Given the description of an element on the screen output the (x, y) to click on. 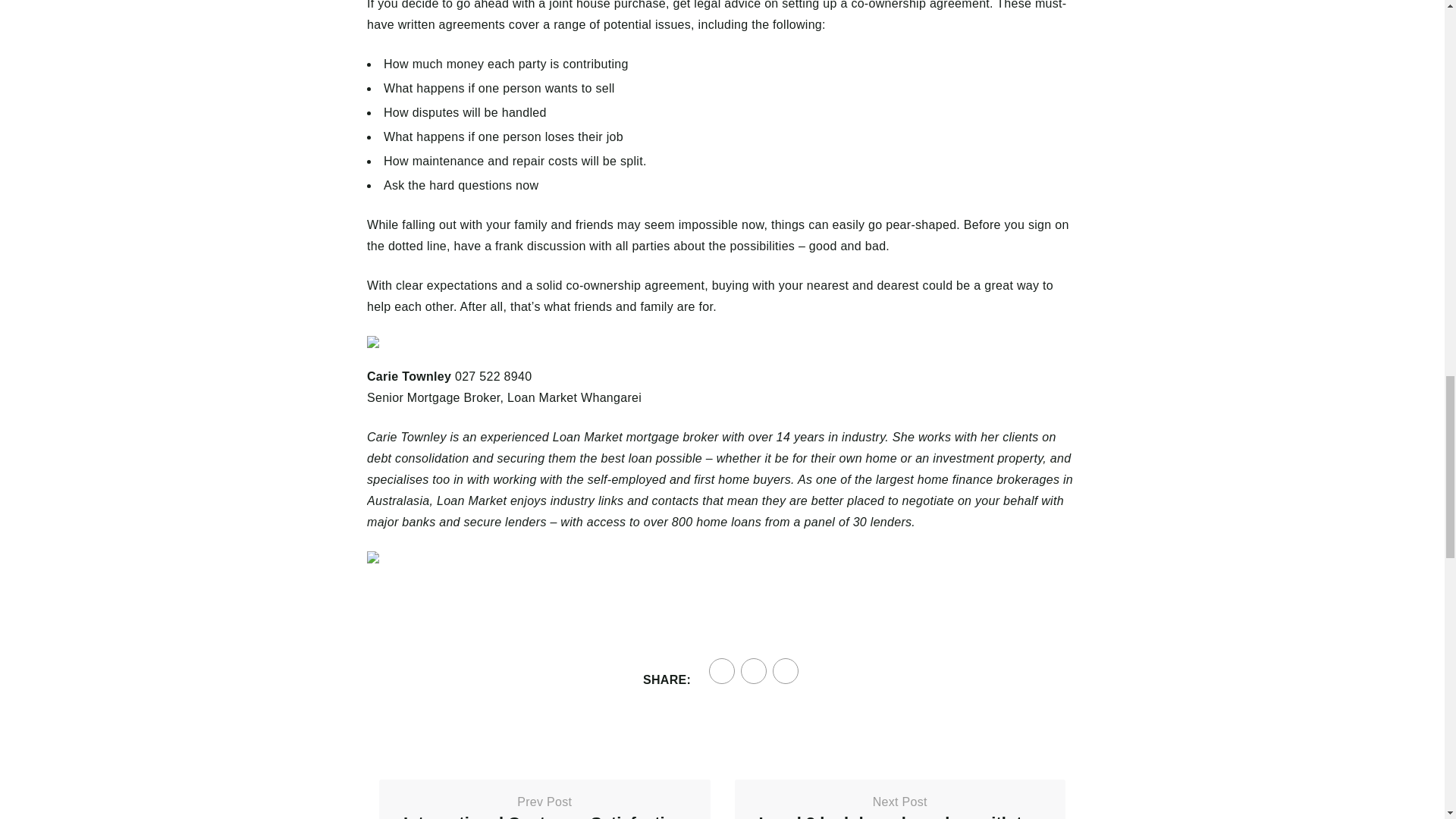
Facebook (722, 670)
Twitter (754, 670)
Email (785, 670)
